Given the description of an element on the screen output the (x, y) to click on. 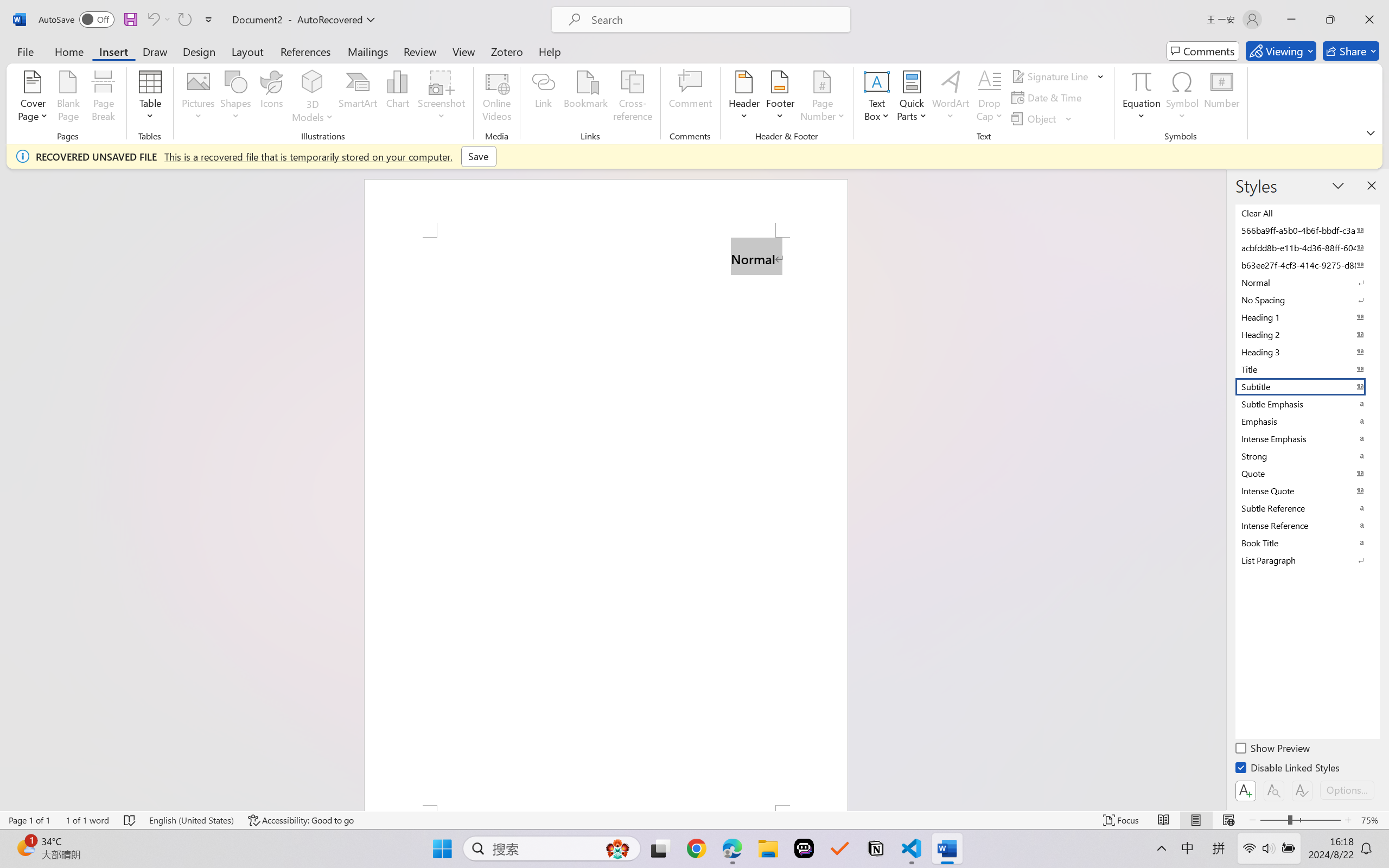
Online Videos... (496, 97)
Drop Cap (989, 97)
Options... (1346, 789)
3D Models (312, 97)
Cross-reference... (632, 97)
Disable Linked Styles (1287, 769)
Screenshot (441, 97)
Subtle Reference (1306, 508)
Page Number (822, 97)
